Given the description of an element on the screen output the (x, y) to click on. 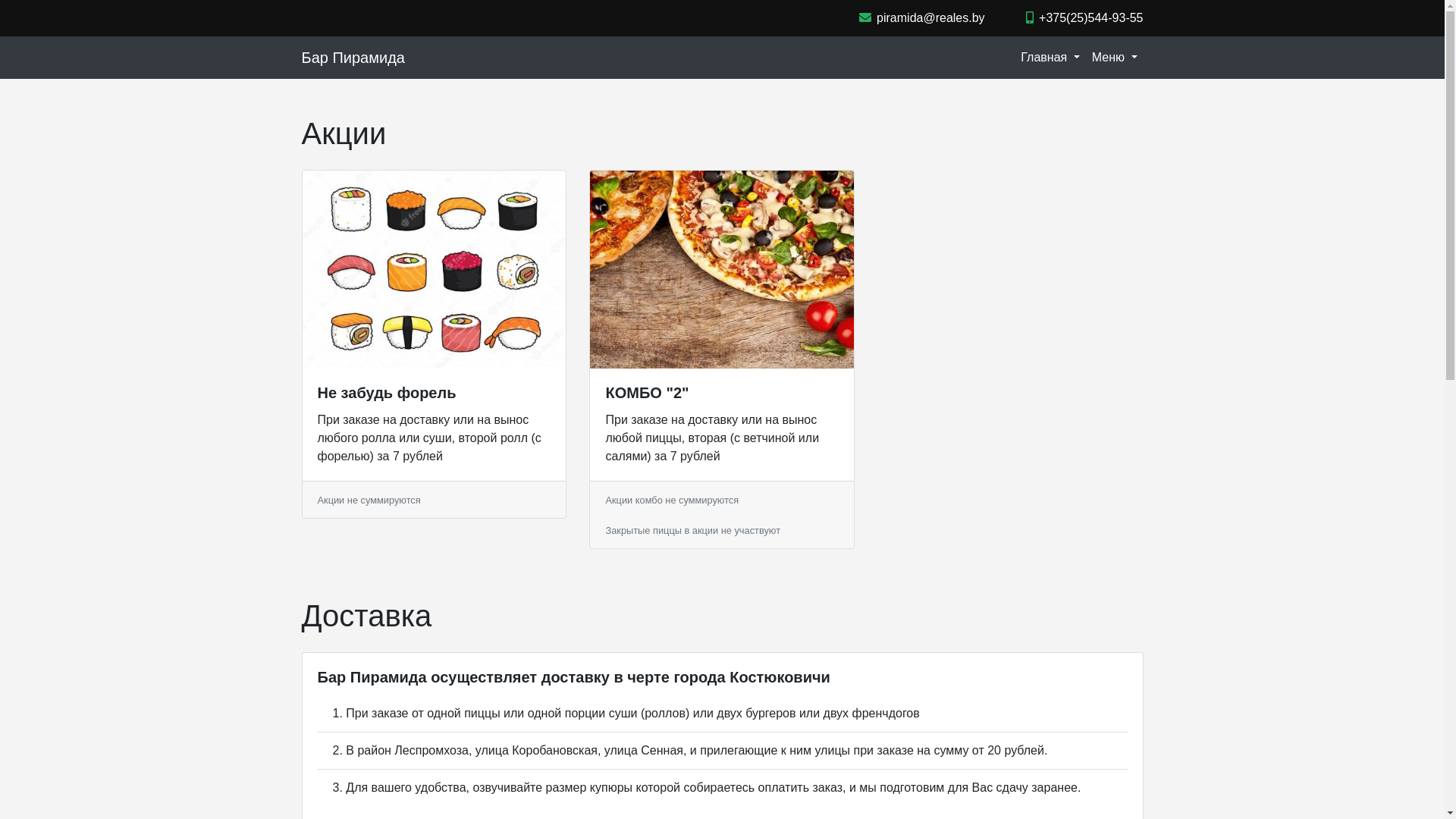
+375(25)544-93-55 Element type: text (1084, 17)
piramida@reales.by Element type: text (922, 17)
